Given the description of an element on the screen output the (x, y) to click on. 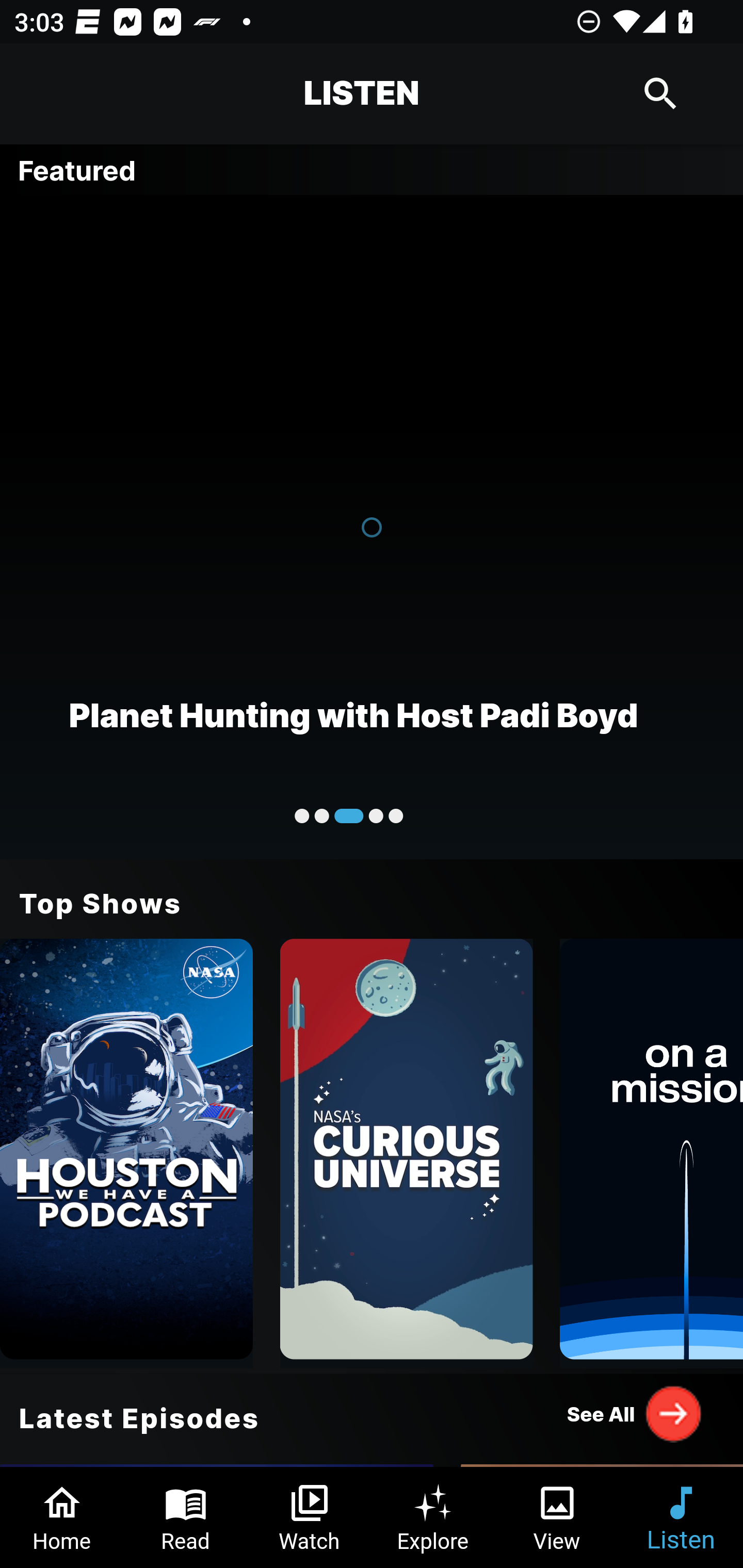
Planet Hunting with Host Padi Boyd (371, 526)
See All (634, 1413)
Home
Tab 1 of 6 (62, 1517)
Read
Tab 2 of 6 (185, 1517)
Watch
Tab 3 of 6 (309, 1517)
Explore
Tab 4 of 6 (433, 1517)
View
Tab 5 of 6 (556, 1517)
Listen
Tab 6 of 6 (680, 1517)
